Given the description of an element on the screen output the (x, y) to click on. 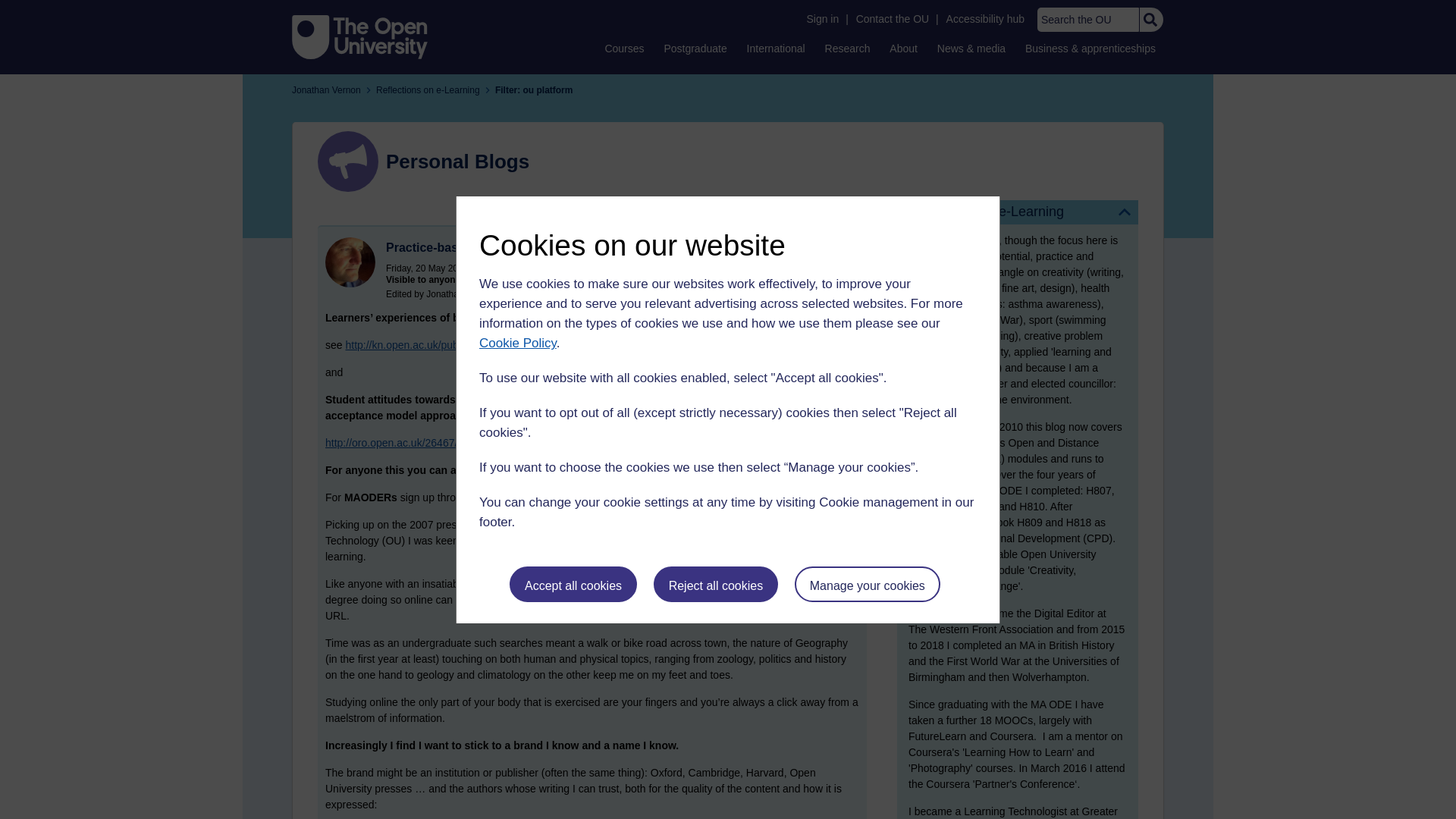
Reject all cookies (715, 583)
Manage your cookies (867, 583)
Cookie Policy (517, 342)
Accessibility hub (985, 19)
Postgraduate (695, 48)
Contact the OU (892, 19)
Search (1149, 19)
About (903, 48)
The Open University (360, 36)
